Given the description of an element on the screen output the (x, y) to click on. 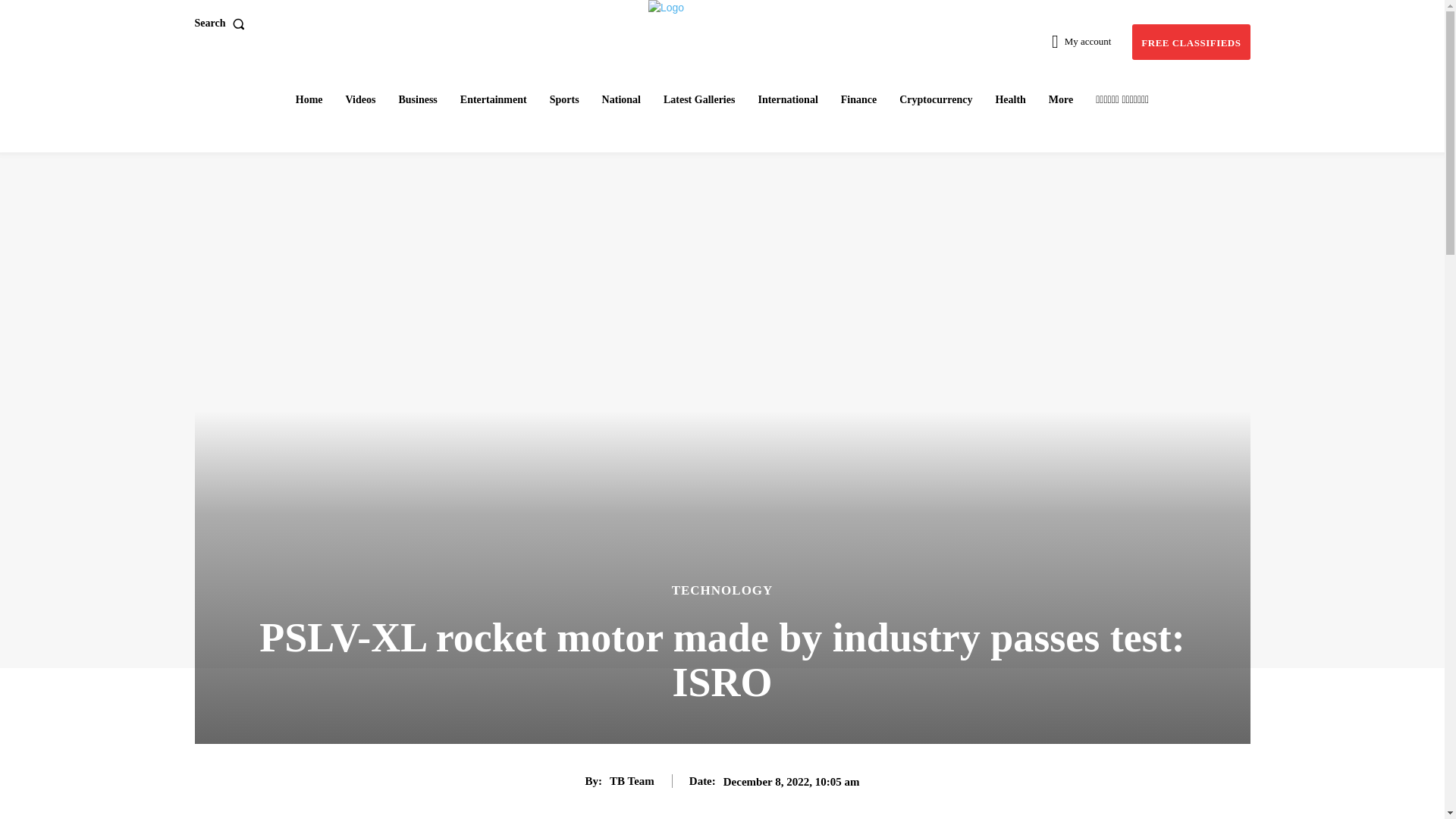
Free Classifieds (1190, 41)
FREE CLASSIFIEDS (1190, 41)
Entertainment (493, 99)
Home (309, 99)
Latest Galleries (699, 99)
Videos (360, 99)
Sports (563, 99)
Search (221, 23)
Business (417, 99)
International (787, 99)
